Given the description of an element on the screen output the (x, y) to click on. 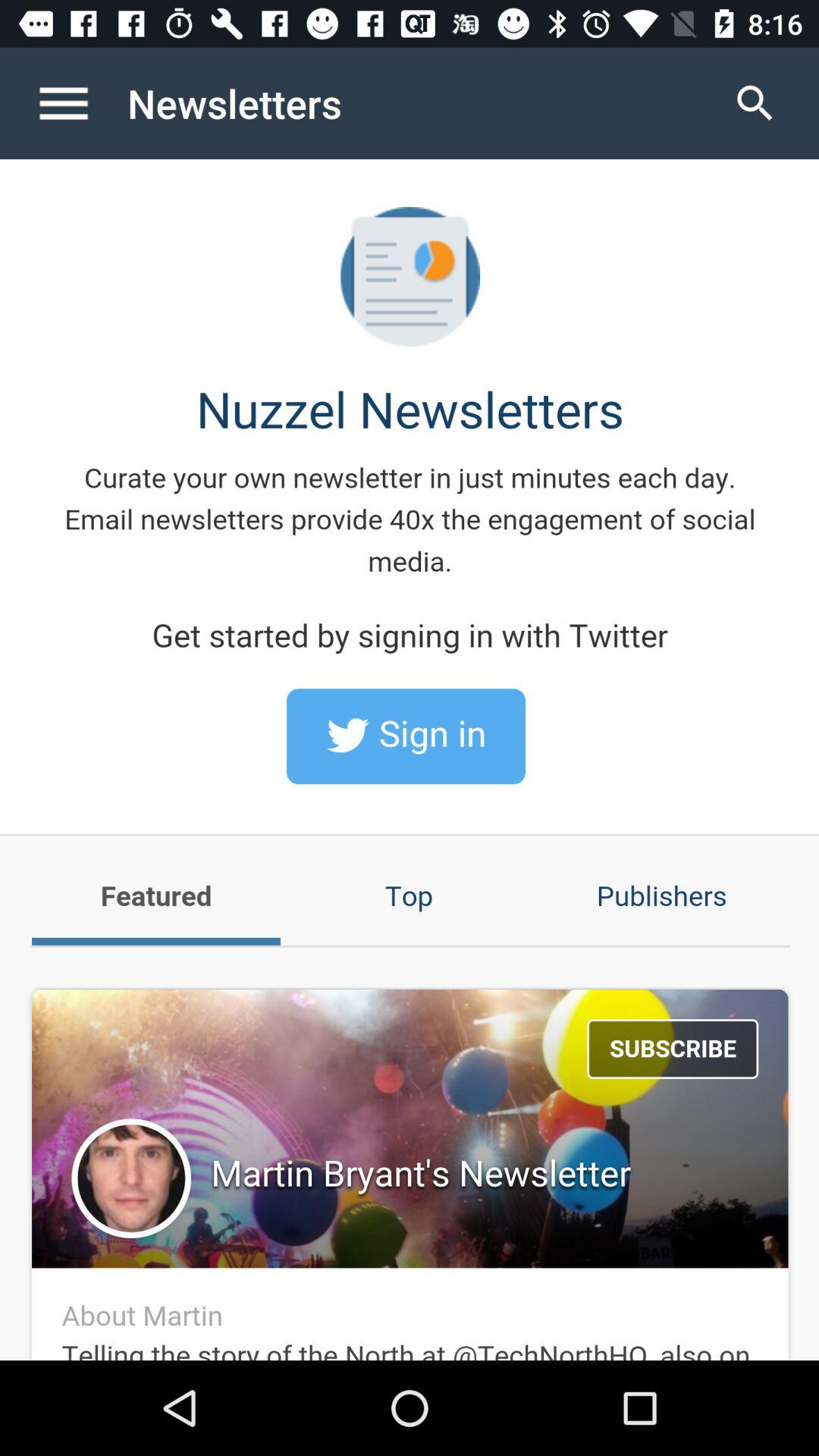
open menu (79, 103)
